Given the description of an element on the screen output the (x, y) to click on. 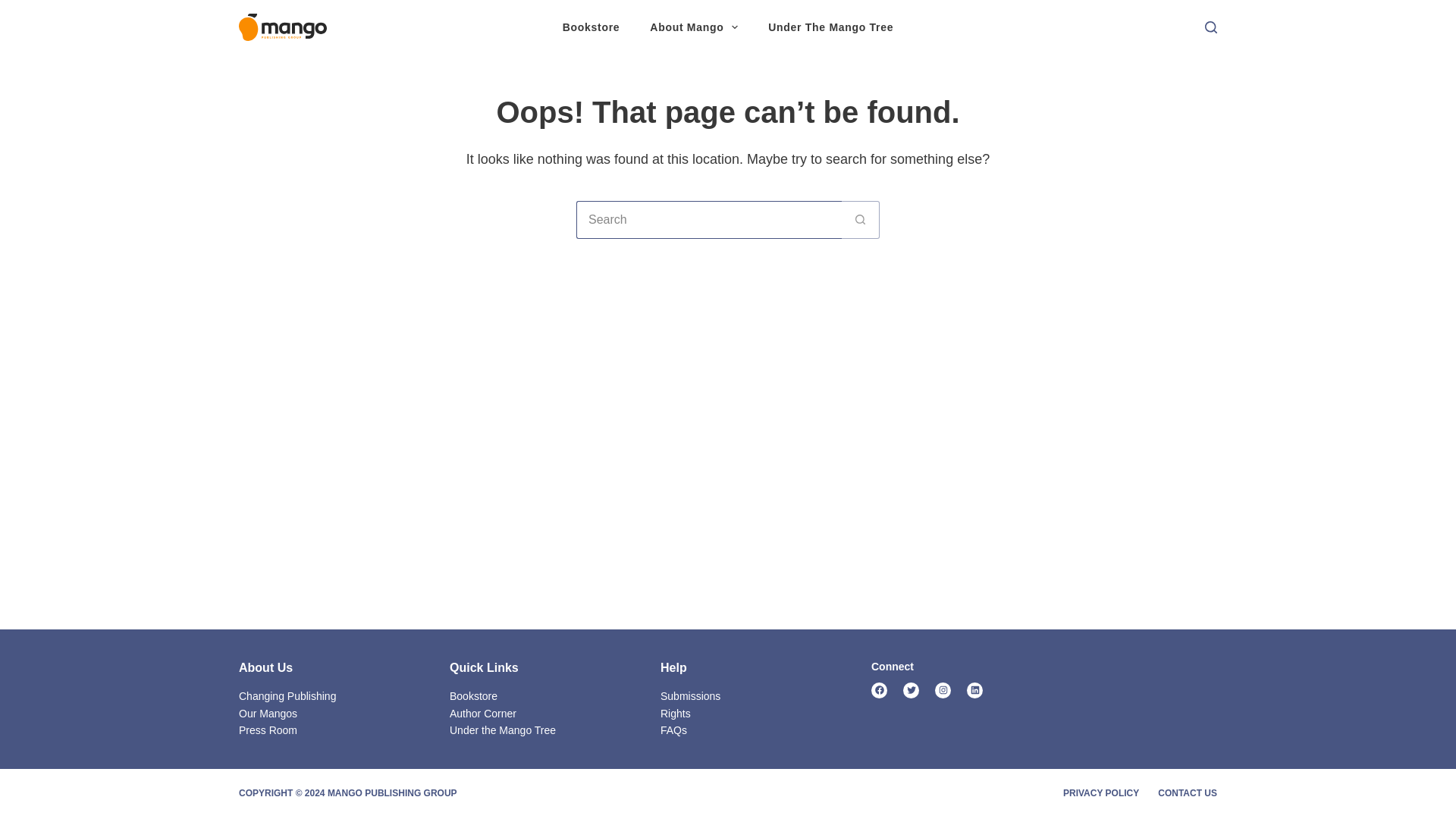
Submissions (690, 695)
Press Room (267, 729)
Skip to content (15, 7)
Search for... (708, 219)
Rights (675, 713)
Facebook (878, 690)
Under The Mango Tree (830, 27)
Our Mangos (267, 713)
Changing Publishing (287, 695)
Under the Mango Tree (502, 729)
